Given the description of an element on the screen output the (x, y) to click on. 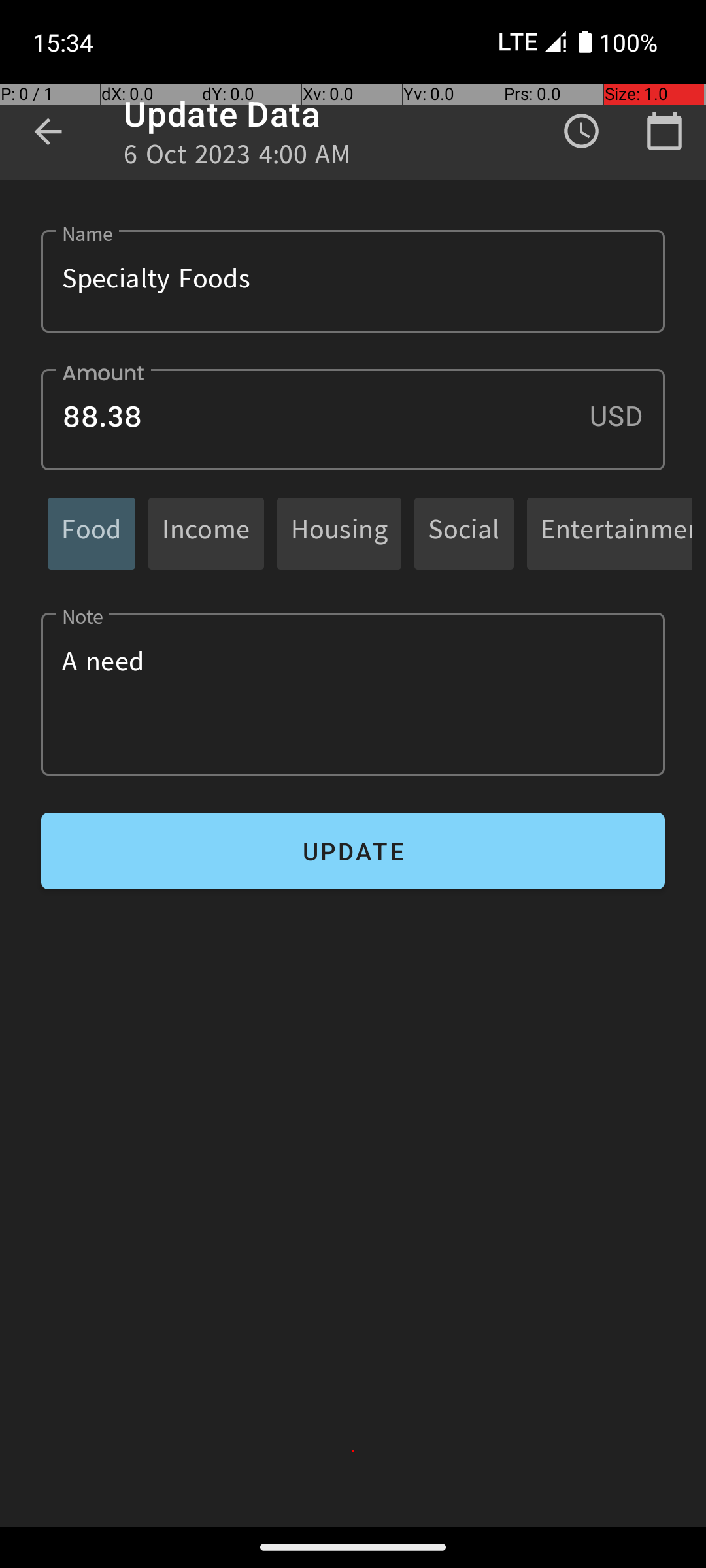
6 Oct 2023 4:00 AM Element type: android.widget.TextView (237, 157)
88.38 Element type: android.widget.EditText (352, 419)
